Given the description of an element on the screen output the (x, y) to click on. 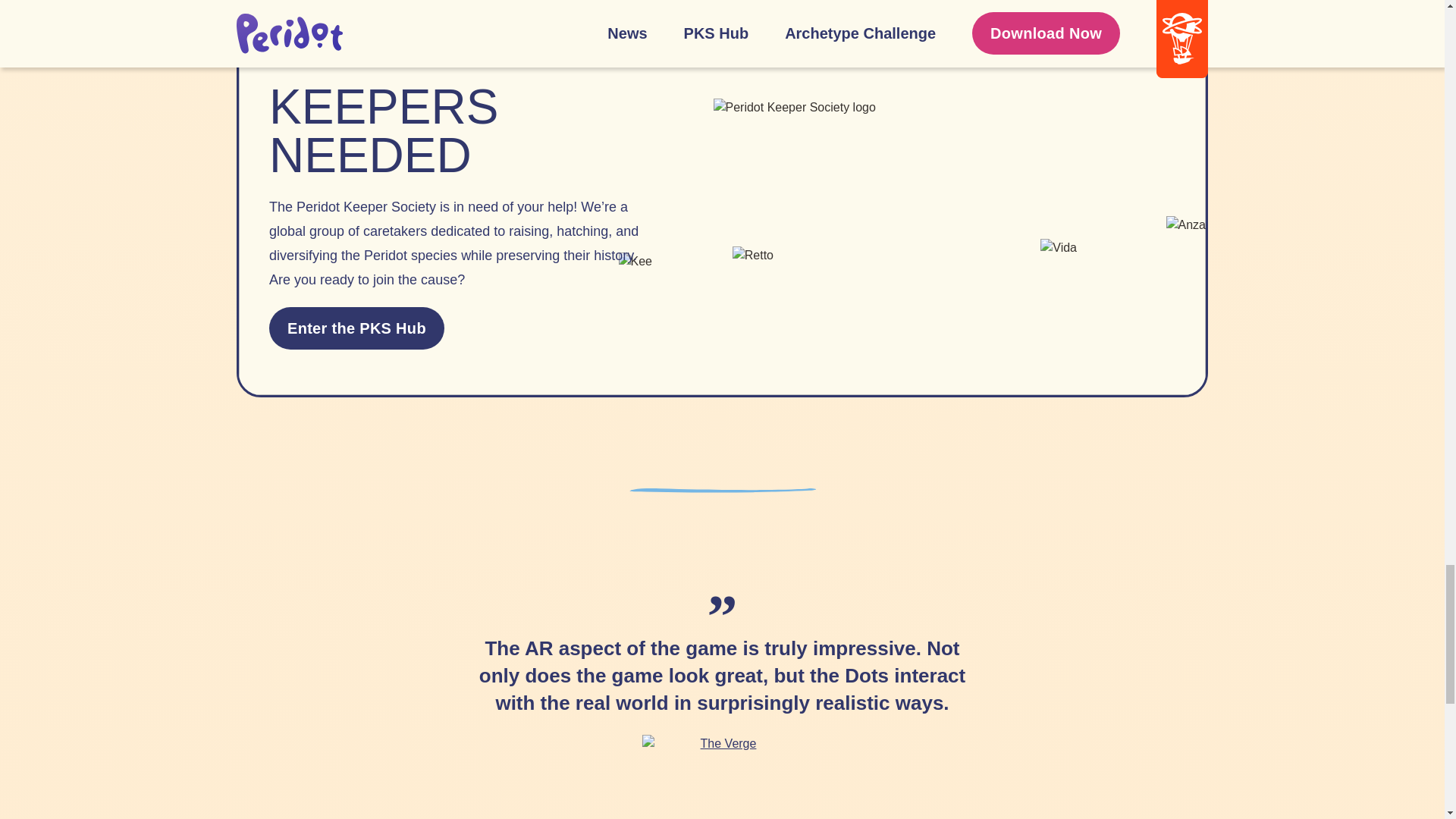
Enter the PKS Hub (356, 328)
